Given the description of an element on the screen output the (x, y) to click on. 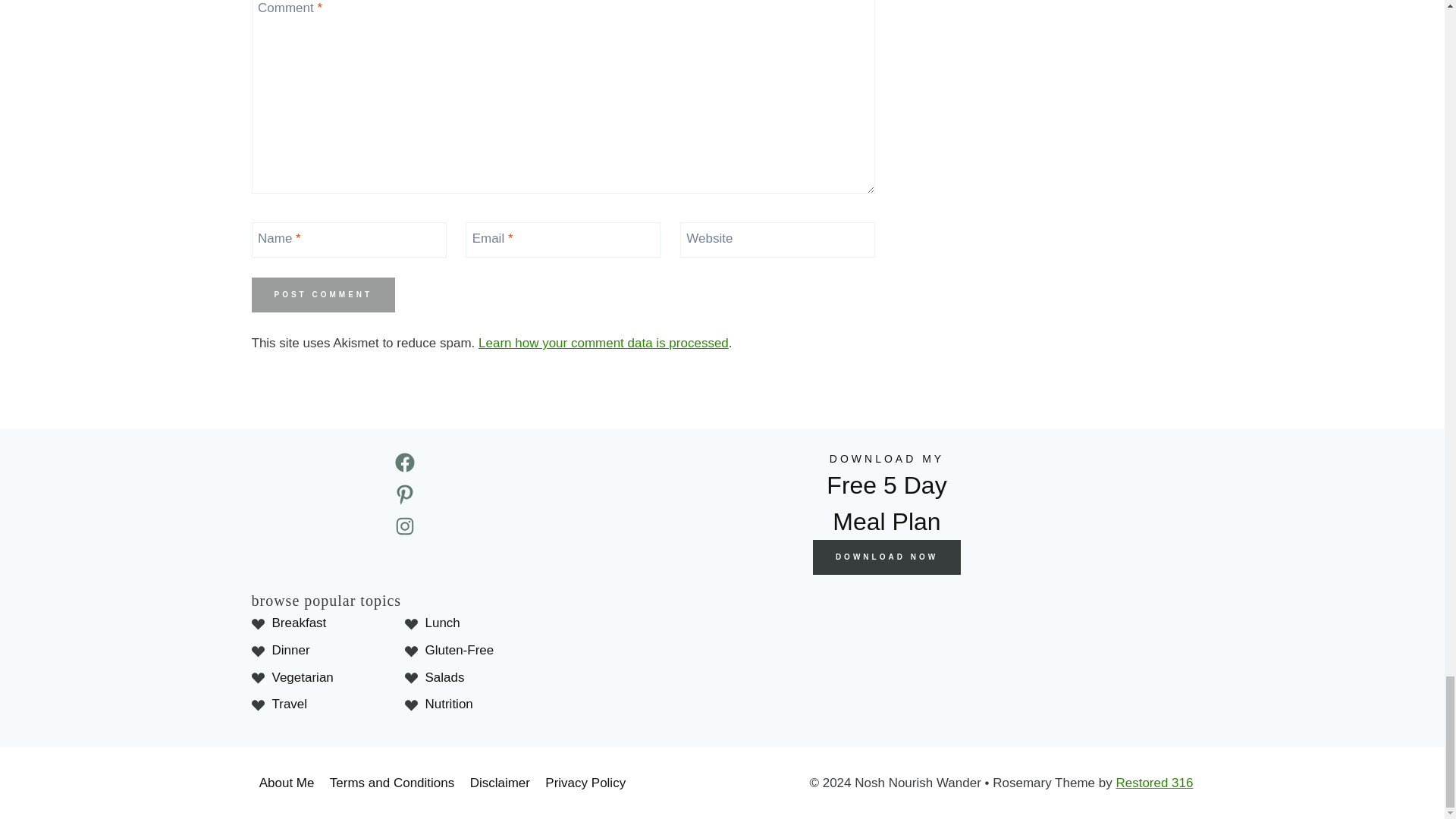
Post Comment (323, 294)
